Given the description of an element on the screen output the (x, y) to click on. 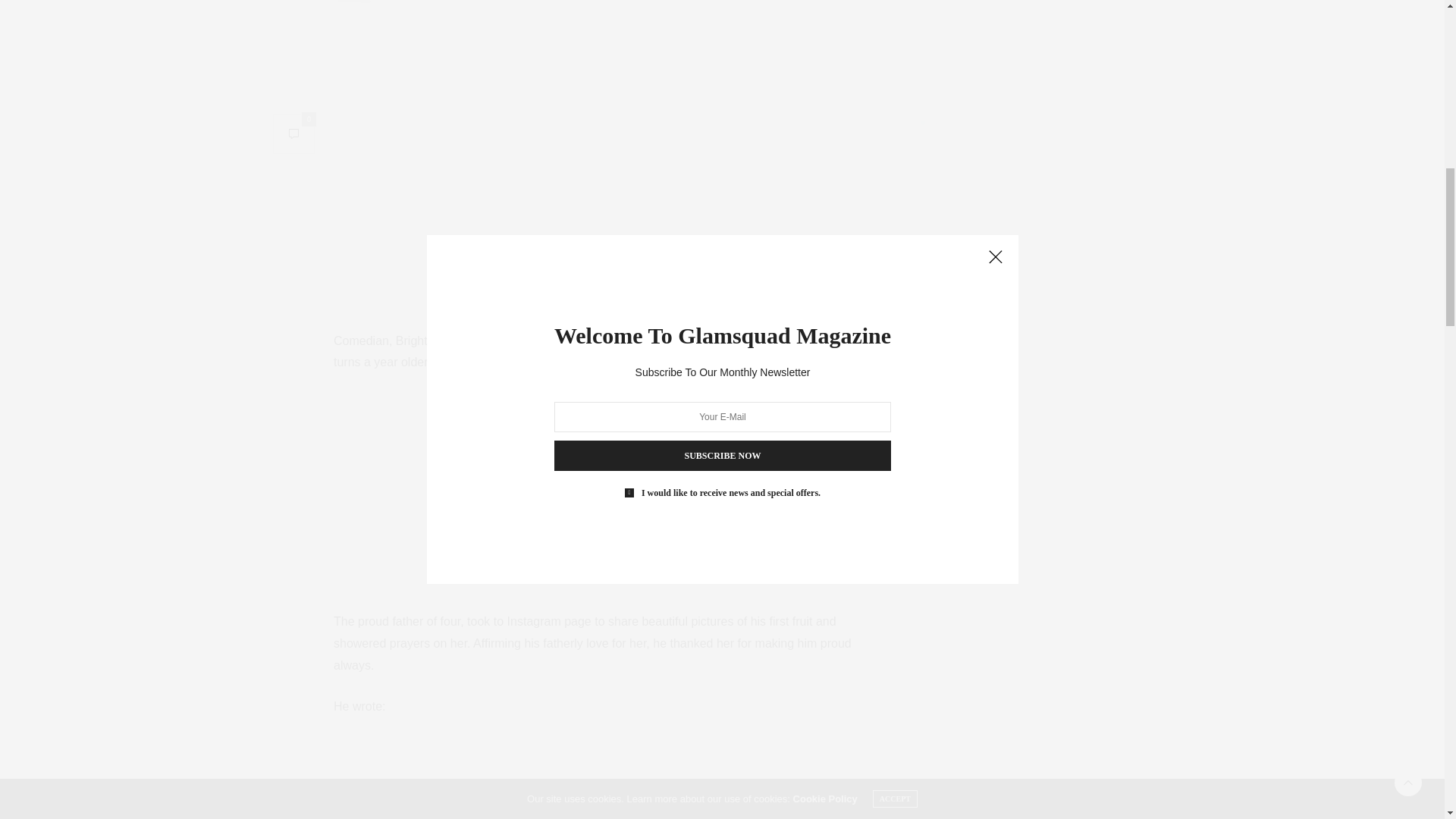
Advertisement (595, 499)
0 (293, 4)
Advertisement (595, 777)
